Given the description of an element on the screen output the (x, y) to click on. 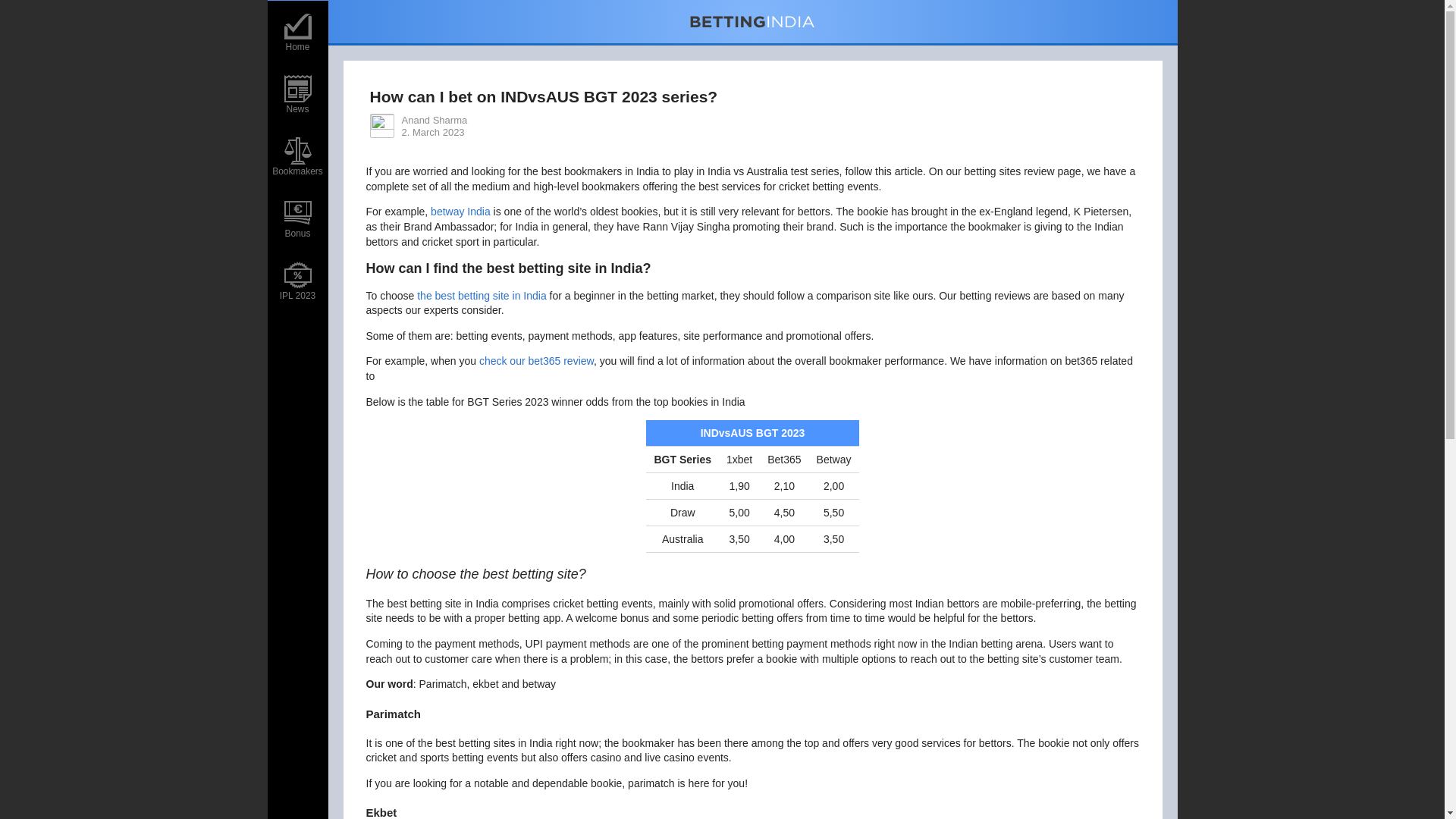
IPL 2023 (296, 278)
the best betting site in India (481, 295)
betting-india.pro (753, 21)
Bookmakers (296, 154)
Bonus (296, 216)
check our bet365 review (536, 360)
Home (296, 29)
News (296, 91)
betway India (460, 211)
